Given the description of an element on the screen output the (x, y) to click on. 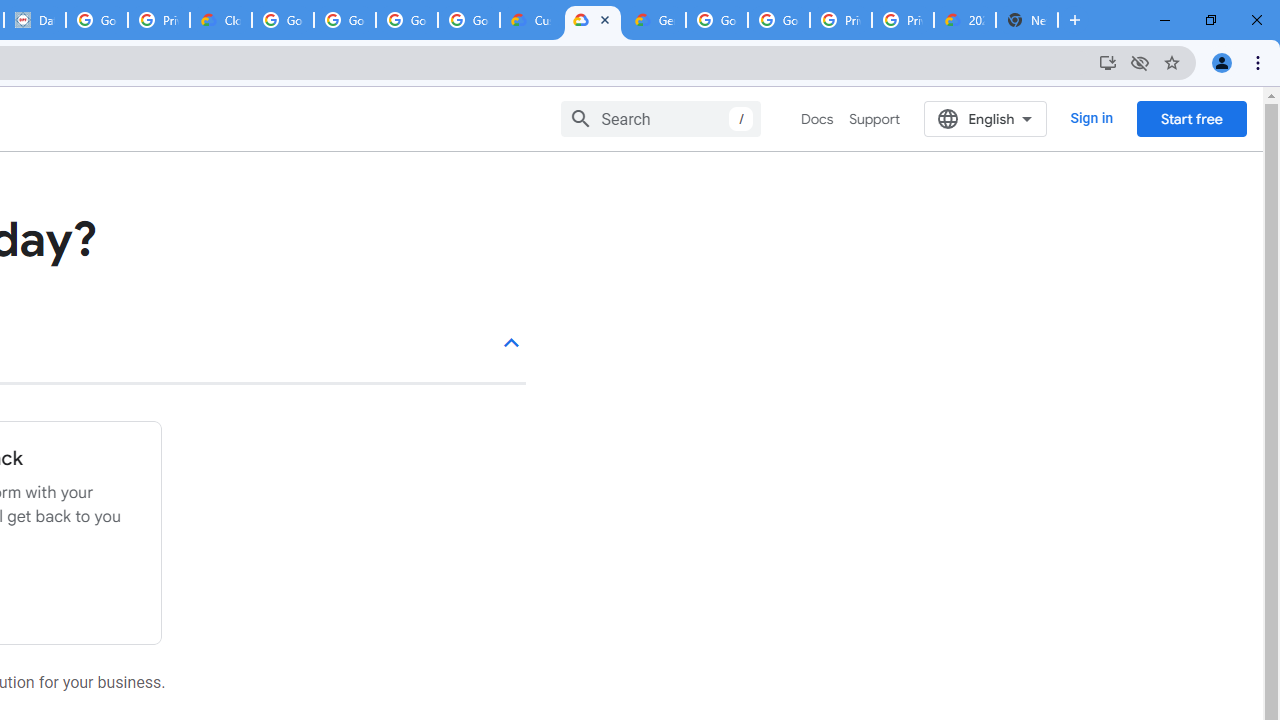
Gemini for Business and Developers | Google Cloud (654, 20)
Google Workspace - Specific Terms (406, 20)
Google Cloud Platform (778, 20)
New Tab (1026, 20)
